Given the description of an element on the screen output the (x, y) to click on. 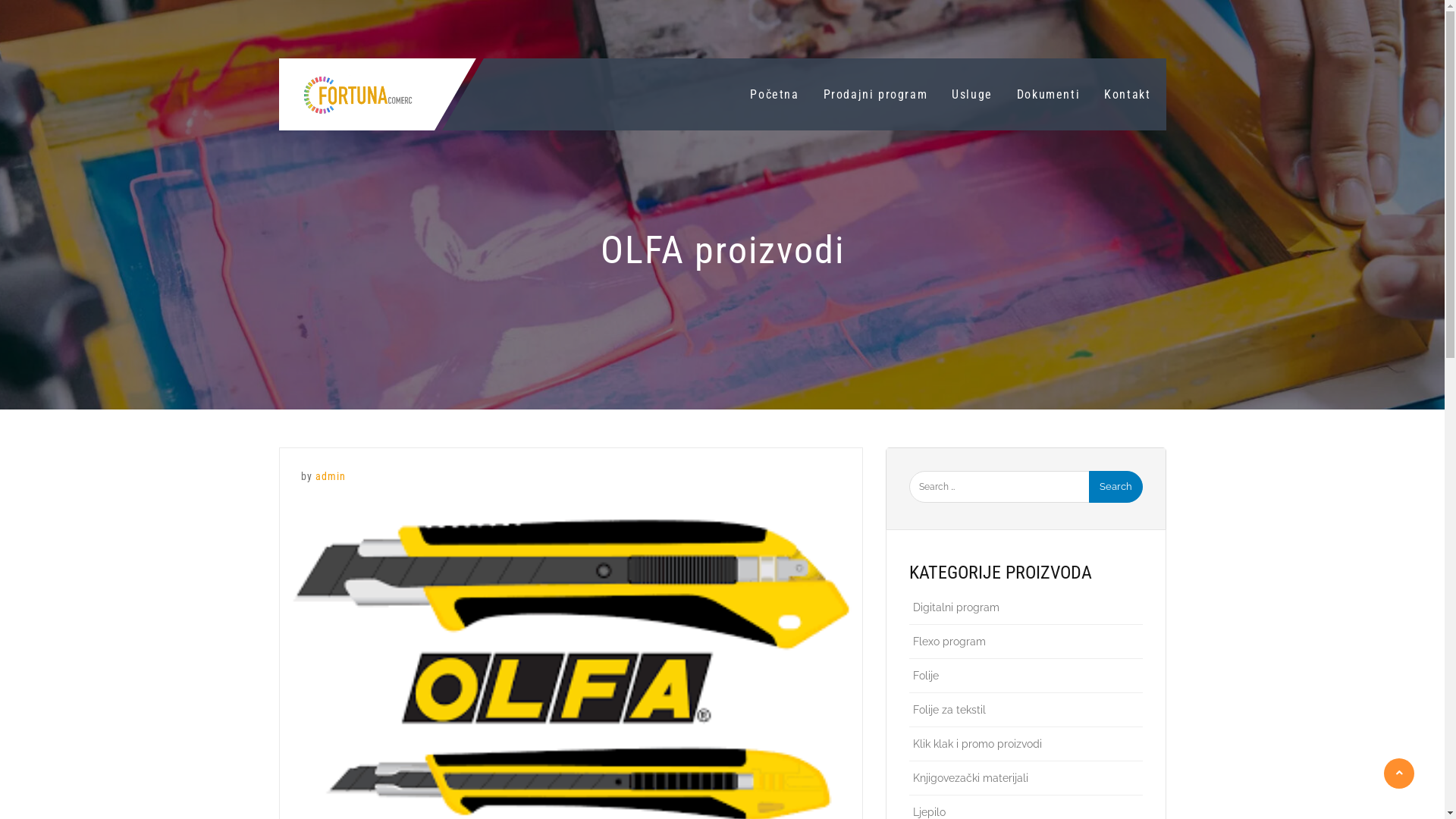
Folije za tekstil Element type: text (1027, 709)
Klik klak i promo proizvodi Element type: text (1027, 743)
Search Element type: text (1115, 486)
Usluge Element type: text (971, 93)
Flexo program Element type: text (1027, 641)
Dokumenti Element type: text (1047, 93)
Kontakt Element type: text (1127, 93)
Digitalni program Element type: text (1027, 607)
Folije Element type: text (1027, 675)
admin Element type: text (330, 476)
Prodajni program Element type: text (875, 93)
